Given the description of an element on the screen output the (x, y) to click on. 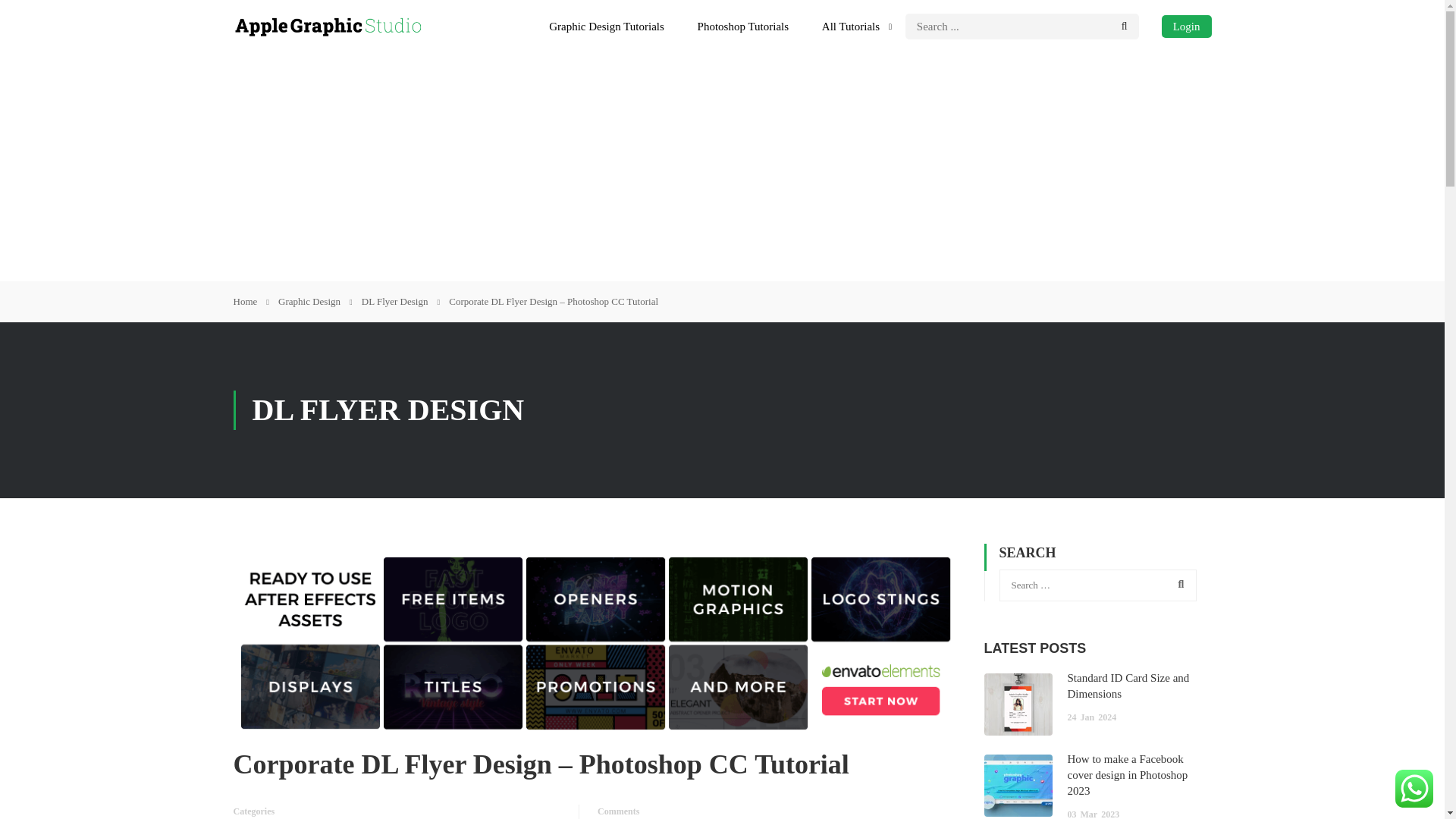
Graphic Design Tutorials (606, 26)
Home (250, 301)
Graphic Design (315, 301)
All Tutorials (850, 26)
Login (1186, 26)
DL Flyer Design (400, 301)
Search (1177, 584)
Search (1177, 584)
Photoshop Tutorials (742, 26)
